Given the description of an element on the screen output the (x, y) to click on. 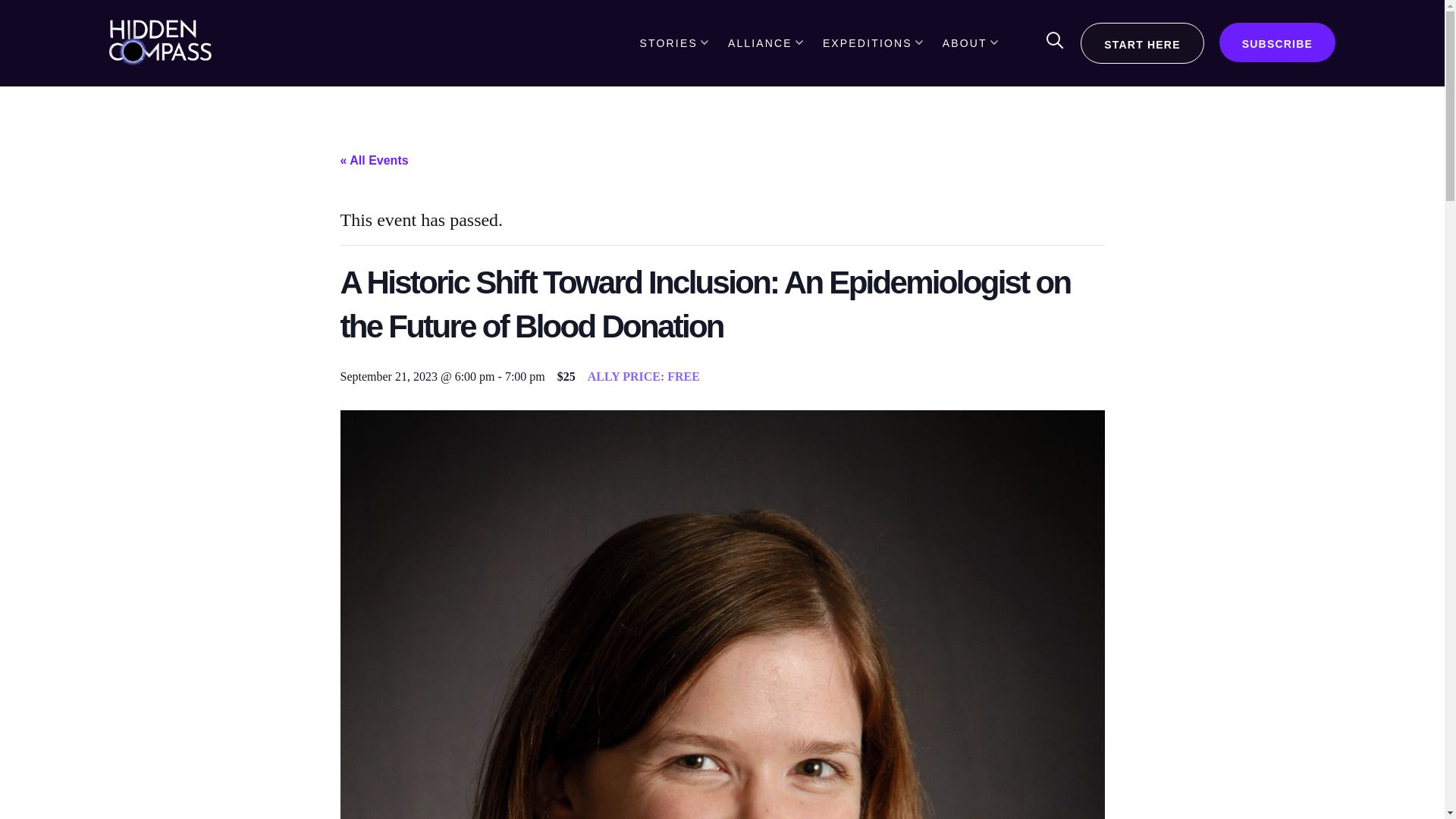
EXPEDITIONS (872, 43)
ALLIANCE (765, 43)
STORIES (674, 43)
ABOUT (970, 43)
Hidden Compass (160, 42)
SUBSCRIBE (1277, 42)
START HERE (1142, 42)
